Given the description of an element on the screen output the (x, y) to click on. 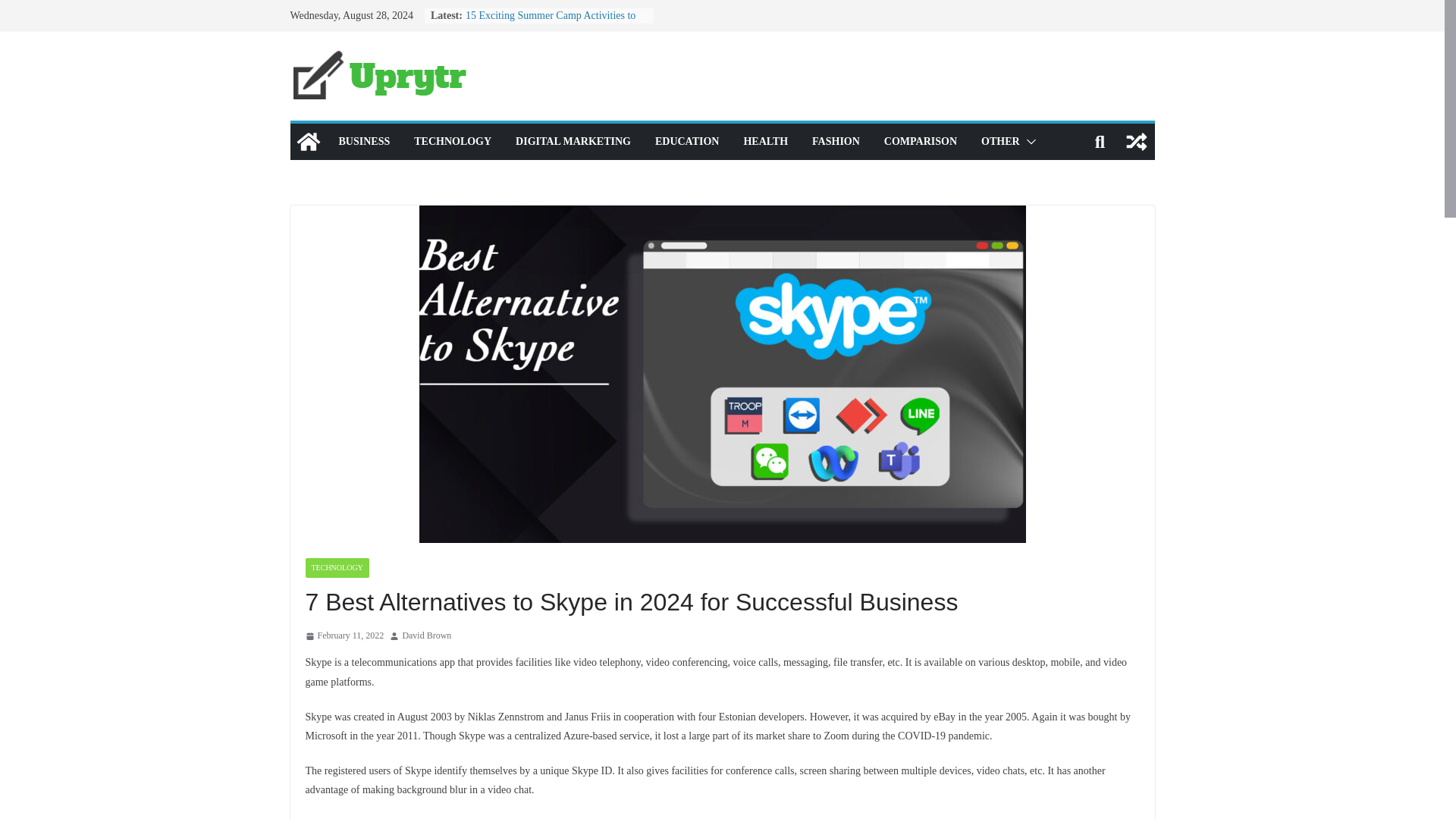
DIGITAL MARKETING (572, 141)
BUSINESS (363, 141)
OTHER (1000, 141)
COMPARISON (919, 141)
FASHION (836, 141)
View a random post (1136, 141)
HEALTH (764, 141)
David Brown (426, 636)
1:10 pm (344, 636)
